Given the description of an element on the screen output the (x, y) to click on. 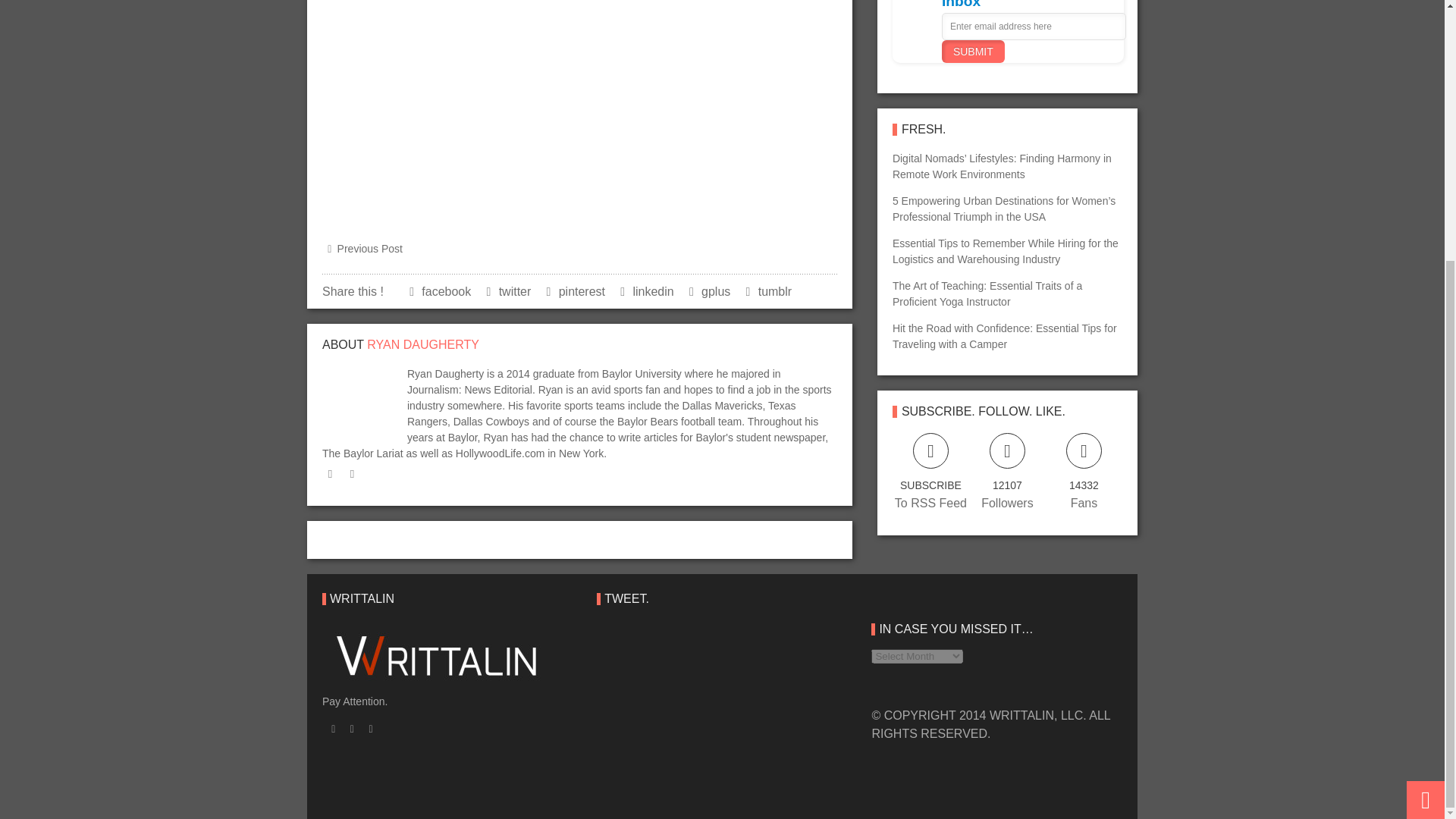
twitter (329, 474)
Submit (973, 51)
Posts by Ryan Daugherty (422, 344)
email (351, 474)
Enter email address here (1033, 26)
